Given the description of an element on the screen output the (x, y) to click on. 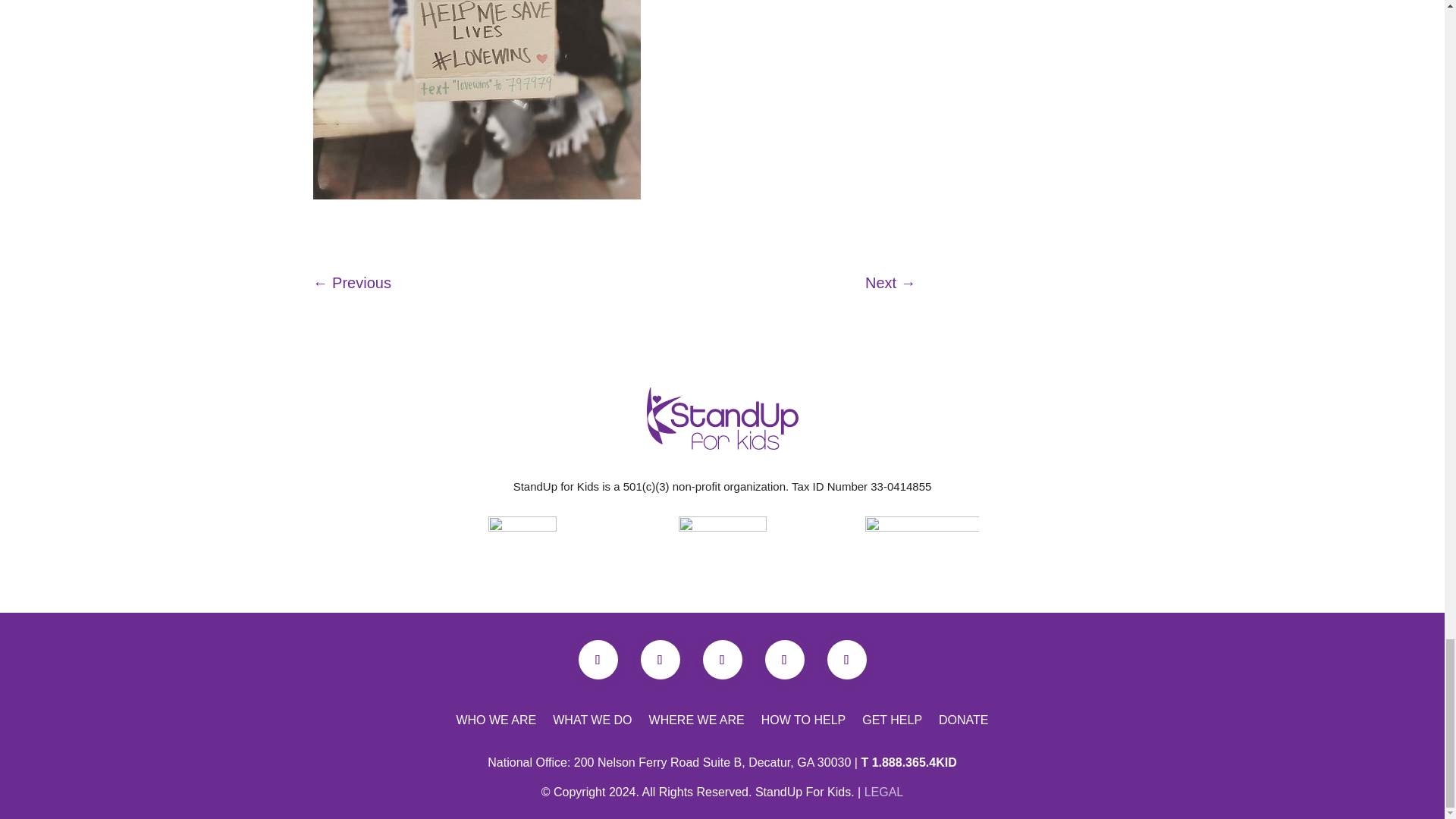
Follow on Facebook (597, 659)
Follow on LinkedIn (783, 659)
Follow on Youtube (721, 659)
guidestar-platinum-sufk (721, 548)
charitynavigator-3star-sufk (521, 550)
Follow on X (659, 659)
Follow on Instagram (846, 659)
SUFK-Website-Logo (721, 418)
